Given the description of an element on the screen output the (x, y) to click on. 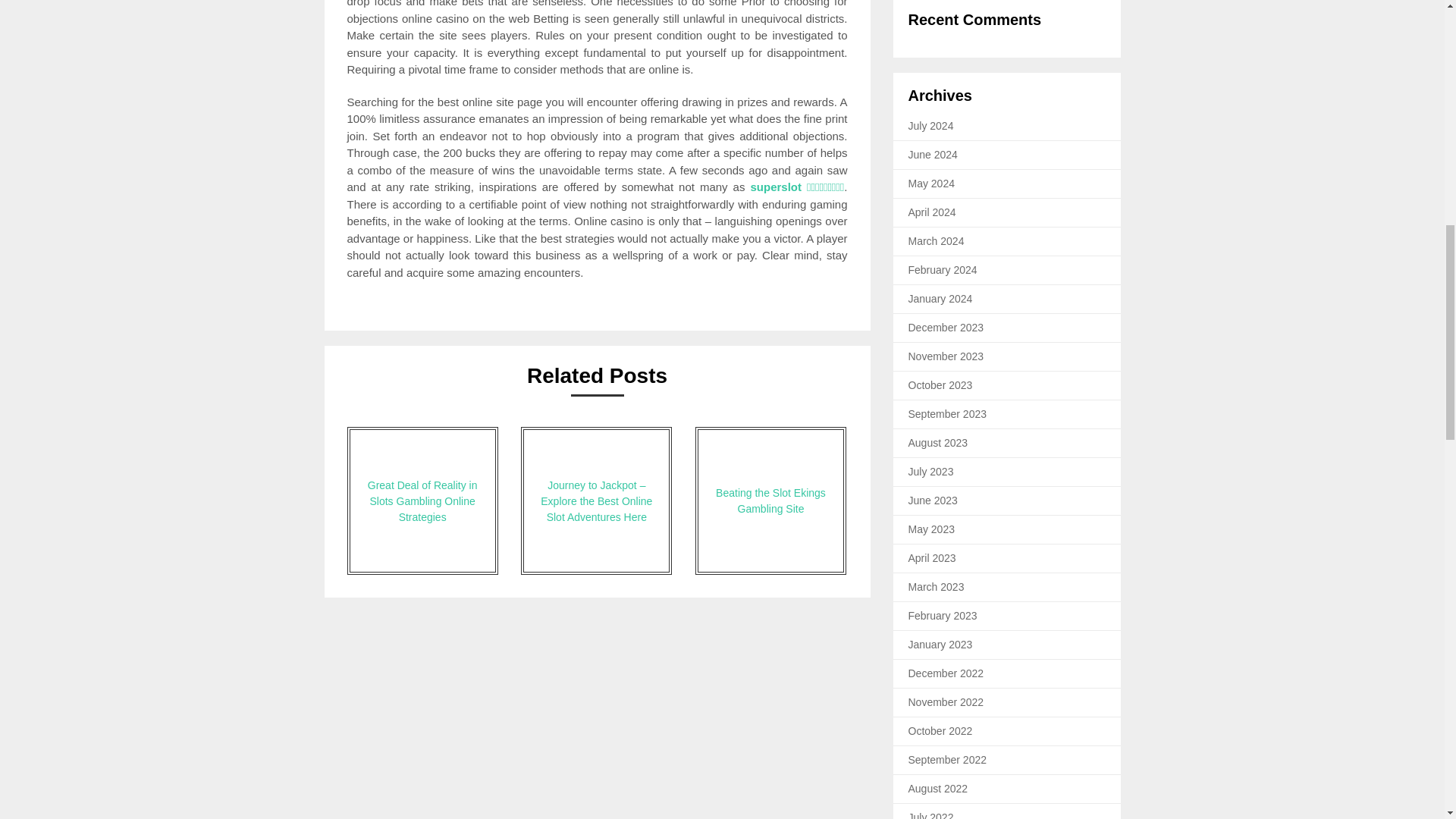
April 2024 (932, 212)
Great Deal of Reality in Slots Gambling Online Strategies (422, 500)
June 2024 (933, 154)
September 2023 (947, 413)
May 2023 (931, 529)
Beating the Slot Ekings Gambling Site (770, 500)
Great Deal of Reality in Slots Gambling Online Strategies (422, 500)
December 2023 (946, 327)
January 2024 (940, 298)
November 2023 (946, 356)
March 2023 (935, 586)
July 2024 (930, 125)
October 2023 (940, 385)
March 2024 (935, 241)
Beating the Slot Ekings Gambling Site (770, 500)
